Given the description of an element on the screen output the (x, y) to click on. 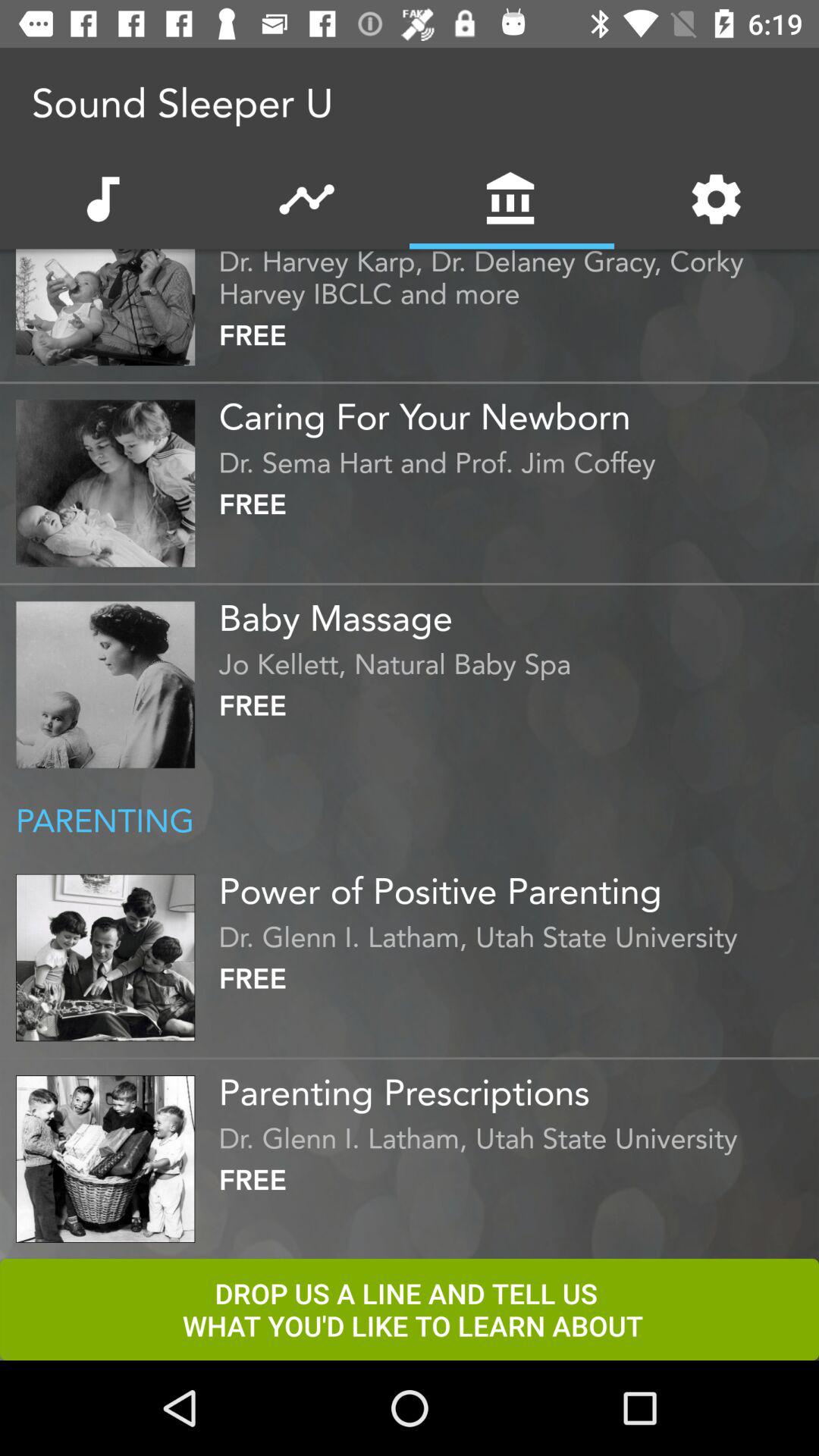
scroll to drop us a item (409, 1309)
